Given the description of an element on the screen output the (x, y) to click on. 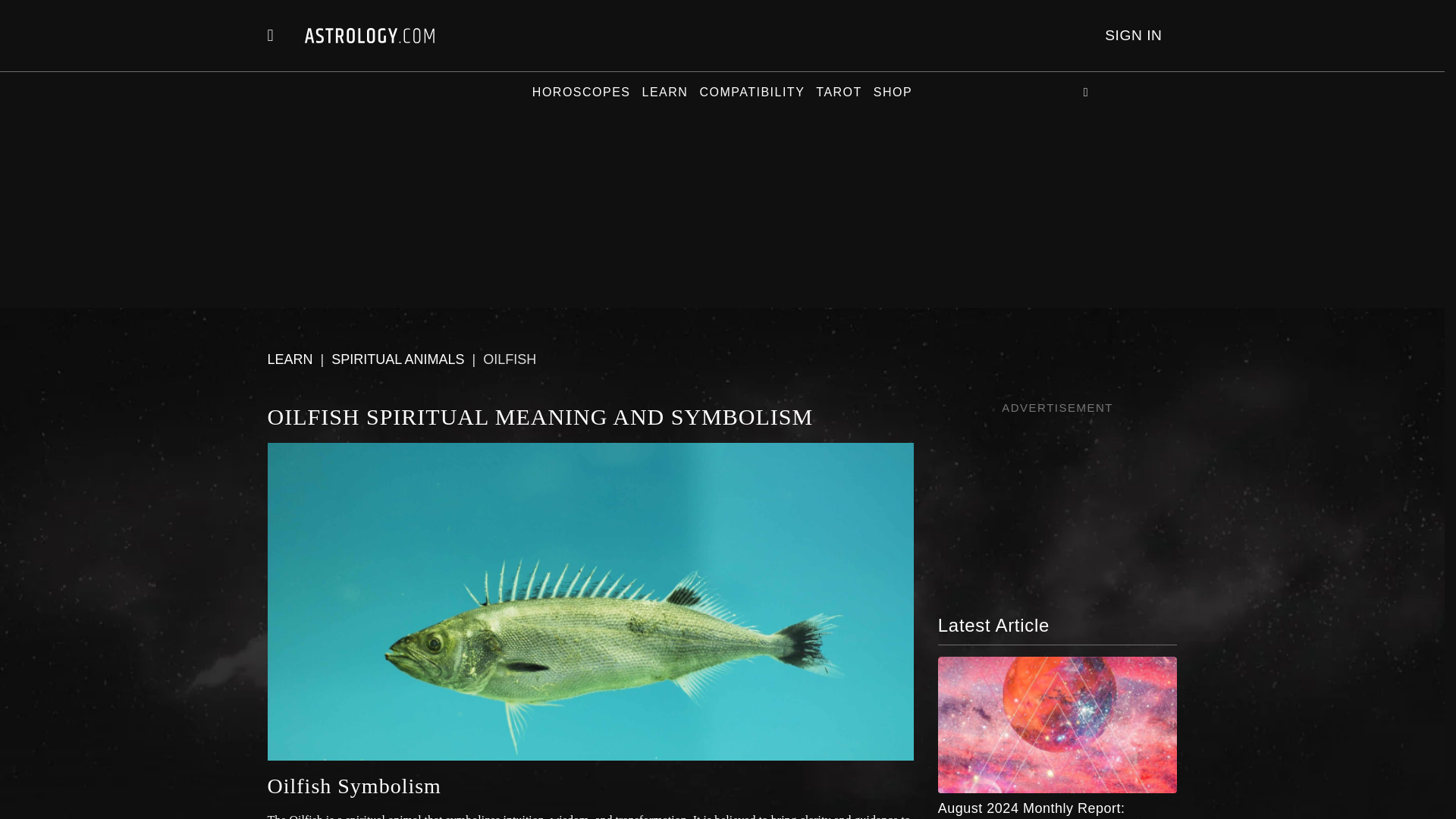
SIGN IN (1133, 35)
